Given the description of an element on the screen output the (x, y) to click on. 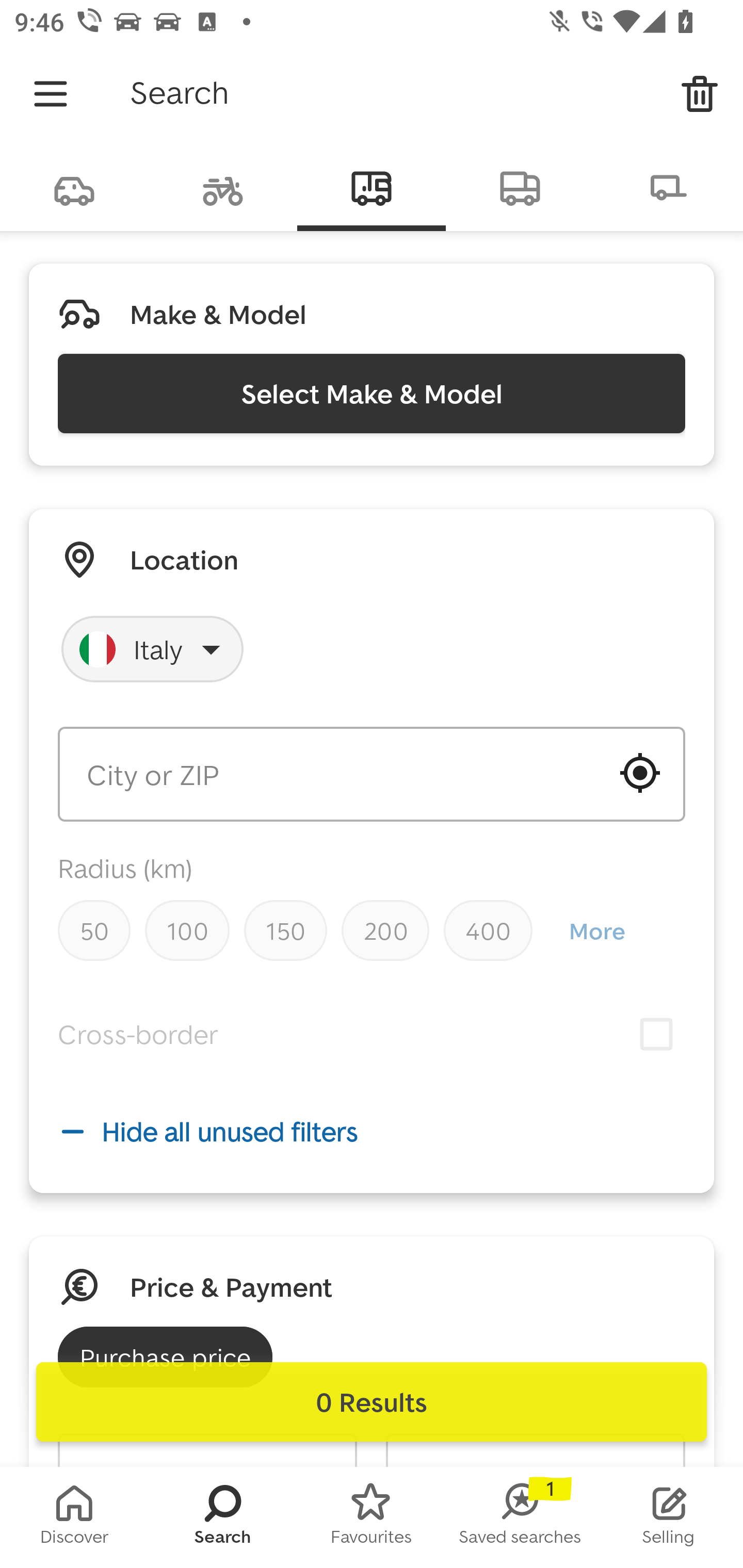
Navigate up (50, 93)
New search (699, 93)
CAR_SEARCH (74, 187)
BIKE_SEARCH (222, 187)
TRUCKS_SEARCH (519, 187)
TRAILERS_SEARCH (668, 187)
Make & Model (218, 314)
Select Make & Model (371, 393)
Location (184, 559)
Italy (152, 648)
City or ZIP (371, 773)
Radius (km) (124, 867)
50 (93, 930)
100 (186, 930)
150 (284, 930)
200 (385, 930)
400 (487, 930)
More (596, 930)
Hide all unused filters (371, 1131)
Price & Payment (231, 1287)
0 Results (371, 1401)
HOMESCREEN Discover (74, 1517)
SEARCH Search (222, 1517)
FAVORITES Favourites (371, 1517)
SAVED_SEARCHES Saved searches 1 (519, 1517)
STOCK_LIST Selling (668, 1517)
